Given the description of an element on the screen output the (x, y) to click on. 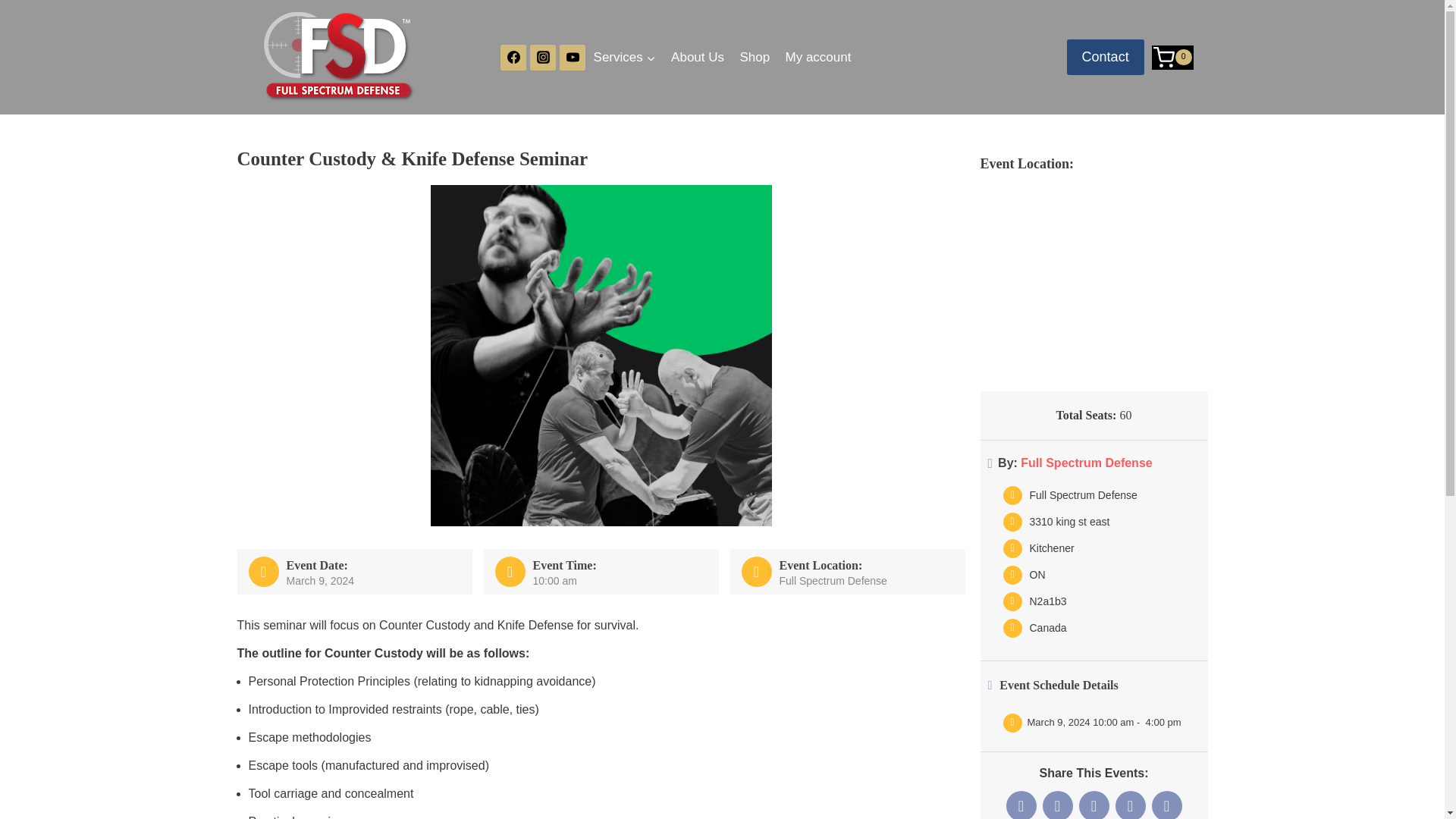
Contact (1105, 57)
Share by Email (1165, 805)
Services (624, 57)
About Us (697, 57)
Full Spectrum Defense (1085, 462)
My account (818, 57)
0 (1172, 57)
Shop (754, 57)
